Given the description of an element on the screen output the (x, y) to click on. 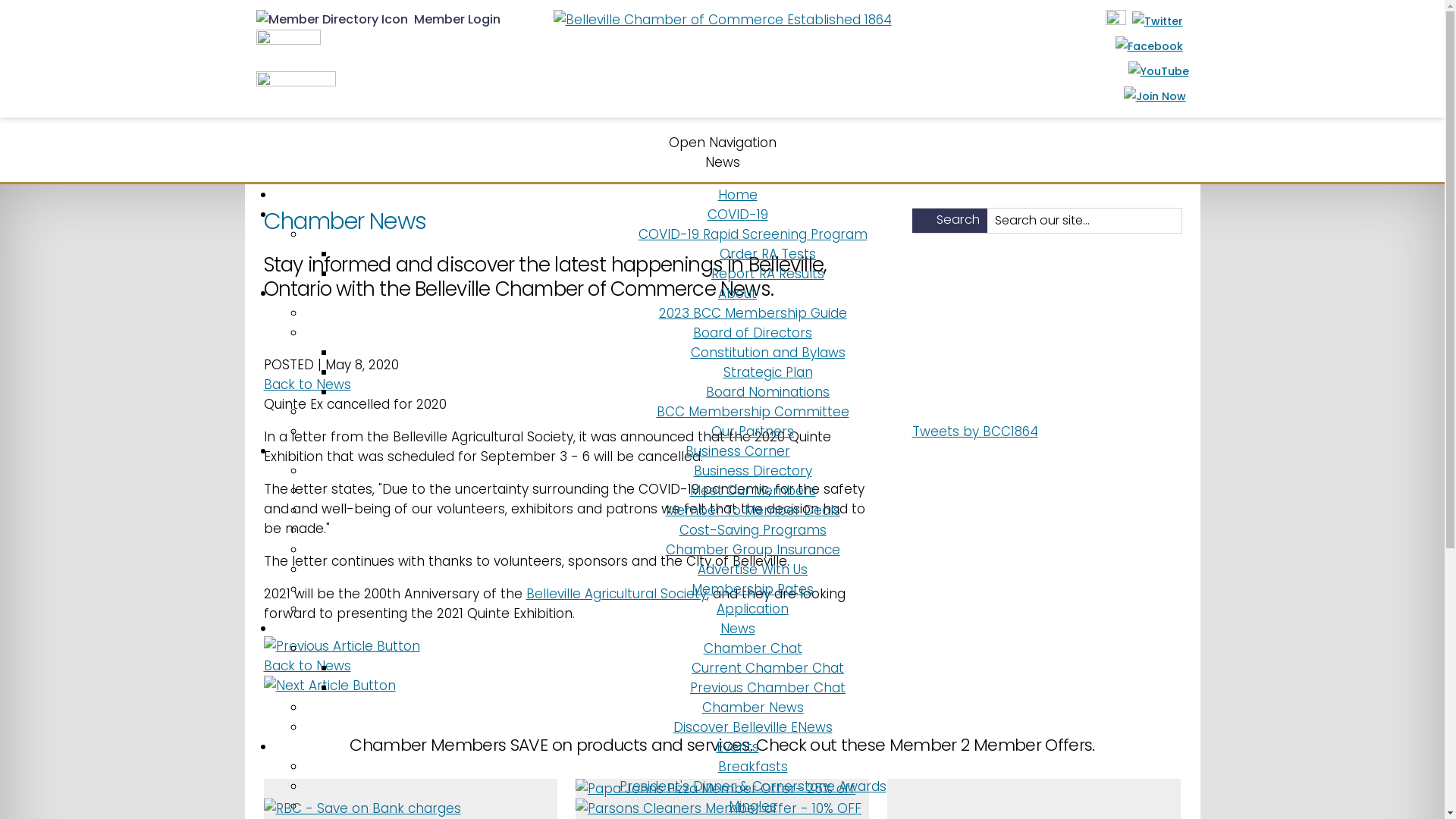
COVID-19 Element type: text (736, 214)
  Member Login Element type: text (378, 19)
Board Nominations Element type: text (767, 391)
Strategic Plan Element type: text (767, 372)
Parsons Cleaners Member offer - 10% OFF Element type: hover (718, 808)
Search our site... Element type: text (1077, 220)
Chamber Group Insurance Element type: text (752, 549)
Board of Directors Element type: text (752, 332)
2023 BCC Membership Guide Element type: text (752, 313)
Events Element type: text (736, 746)
Advertise With Us Element type: text (752, 569)
BCC Membership Committee Element type: text (752, 411)
Chamber News Element type: text (752, 707)
About Element type: text (737, 293)
RBC - Save on Bank charges Element type: hover (362, 808)
Papa Johns Pizza Member Offer- 25% off Element type: hover (715, 788)
Report RA Results Element type: text (767, 273)
Mingles Element type: text (752, 806)
Back to News Element type: text (307, 384)
Chamber Chat Element type: text (752, 648)
Member To Member Deals Element type: text (752, 510)
Previous Chamber Chat Element type: text (767, 687)
Cost-Saving Programs Element type: text (752, 529)
Our Partners Element type: text (752, 431)
Order RA Tests Element type: text (767, 253)
Current Chamber Chat Element type: text (767, 667)
Discover Belleville ENews Element type: text (752, 727)
Home Element type: text (736, 194)
Breakfasts Element type: text (752, 766)
Belleville Agricultural Society Element type: text (616, 593)
Search Element type: text (958, 220)
COVID-19 Rapid Screening Program Element type: text (752, 234)
Tweets by BCC1864 Element type: text (974, 431)
Back to News Element type: text (307, 665)
Membership Rates Element type: text (752, 589)
President's Dinner & Cornerstone Awards Element type: text (751, 786)
Meet Our Members Element type: text (752, 490)
Constitution and Bylaws Element type: text (767, 352)
Business Corner Element type: text (737, 451)
Application Element type: text (752, 608)
News Element type: text (737, 628)
Business Directory Element type: text (752, 470)
Search Element type: text (958, 214)
